Given the description of an element on the screen output the (x, y) to click on. 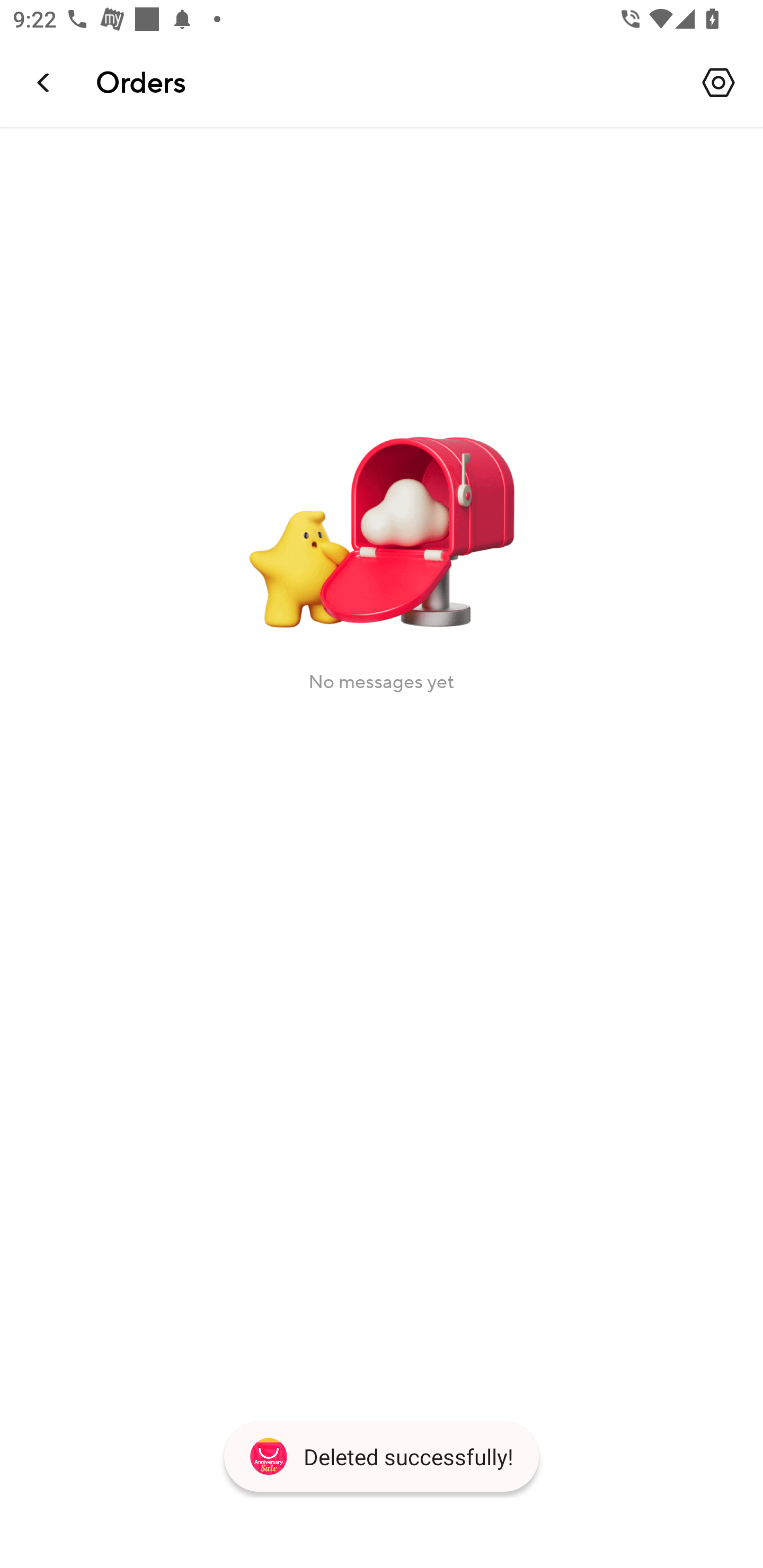
Navigate up (44, 82)
